Given the description of an element on the screen output the (x, y) to click on. 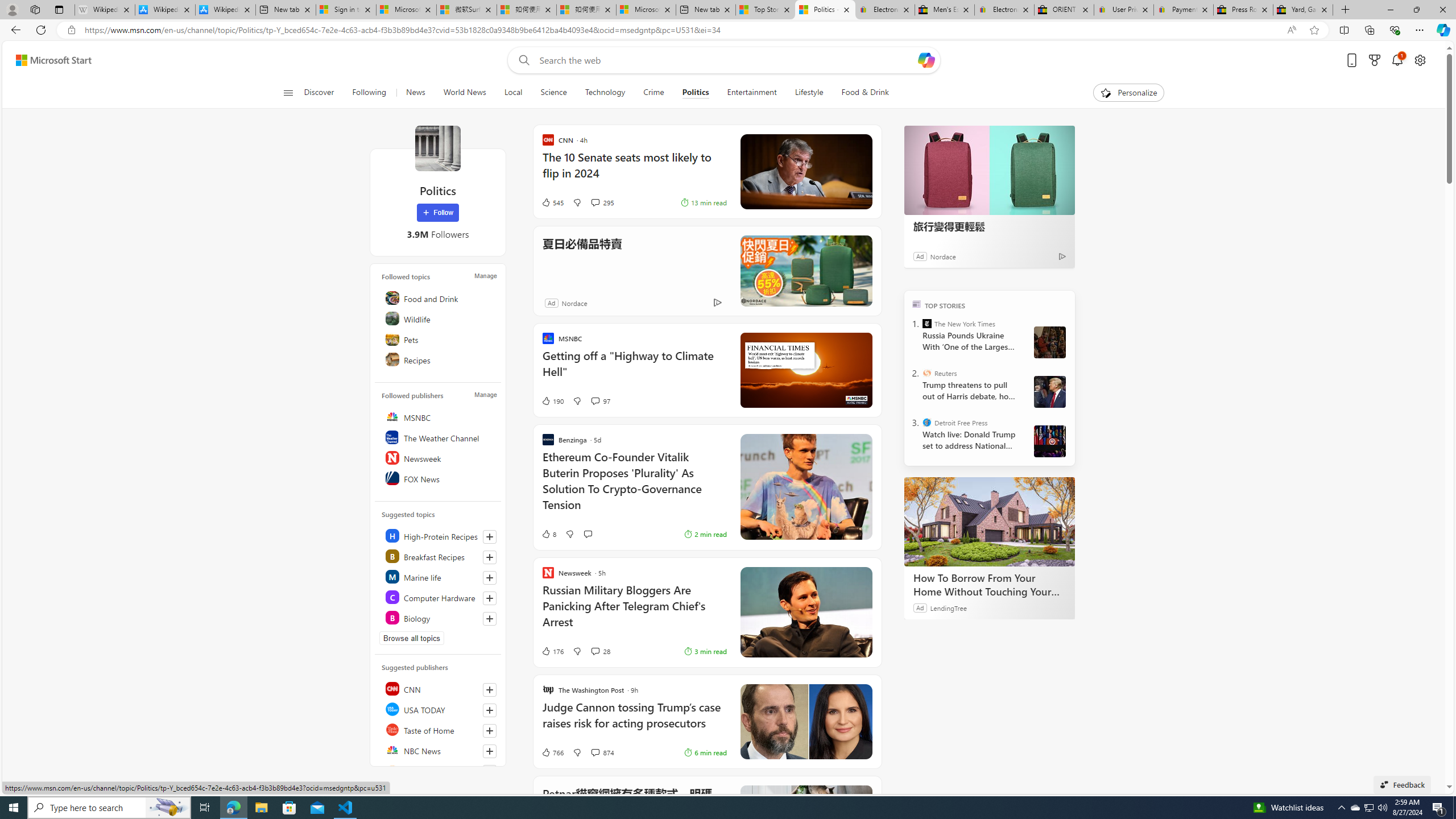
View comments 28 Comment (599, 650)
View comments 295 Comment (594, 202)
766 Like (551, 752)
